Given the description of an element on the screen output the (x, y) to click on. 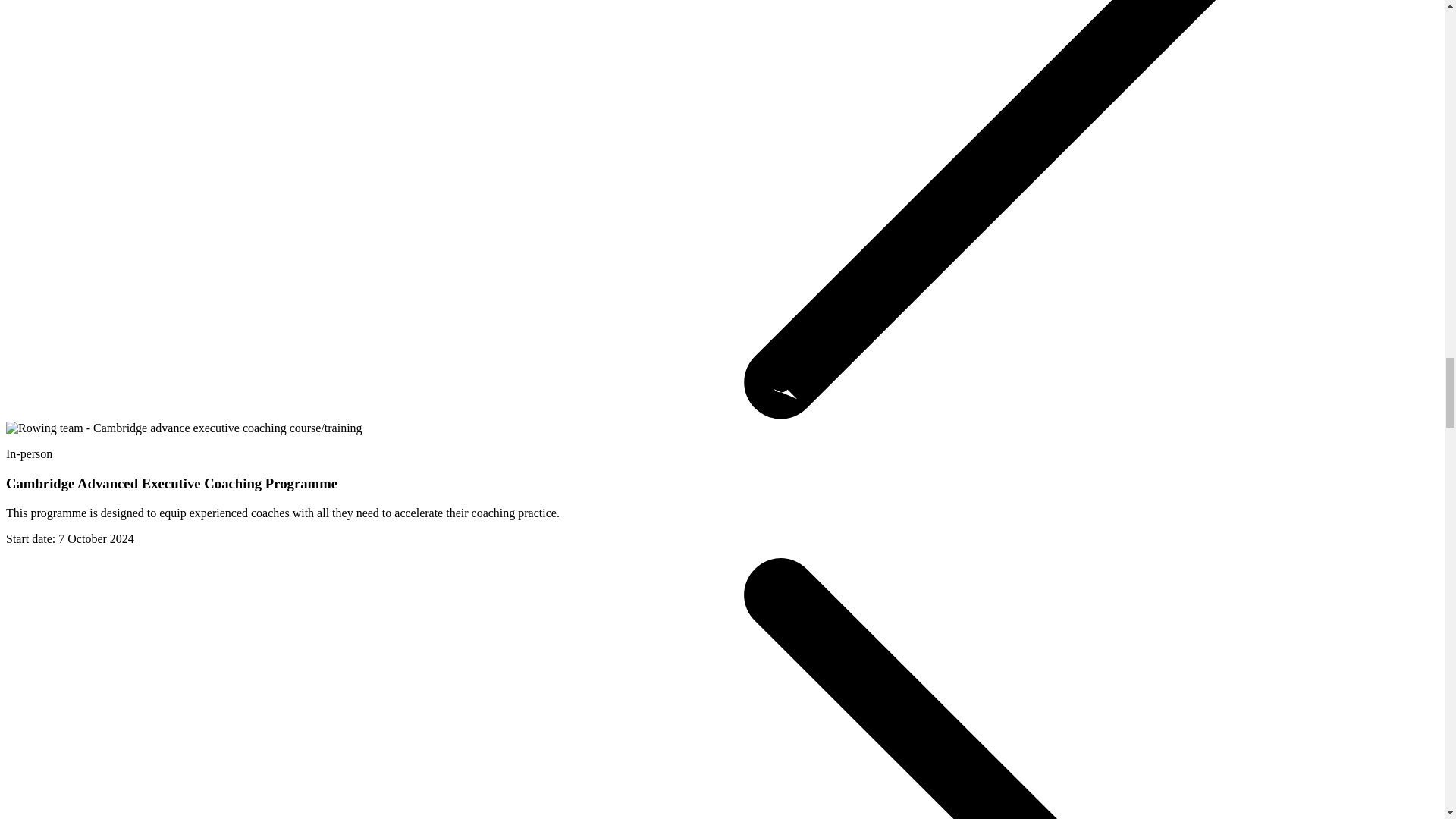
Coaching (183, 427)
